Given the description of an element on the screen output the (x, y) to click on. 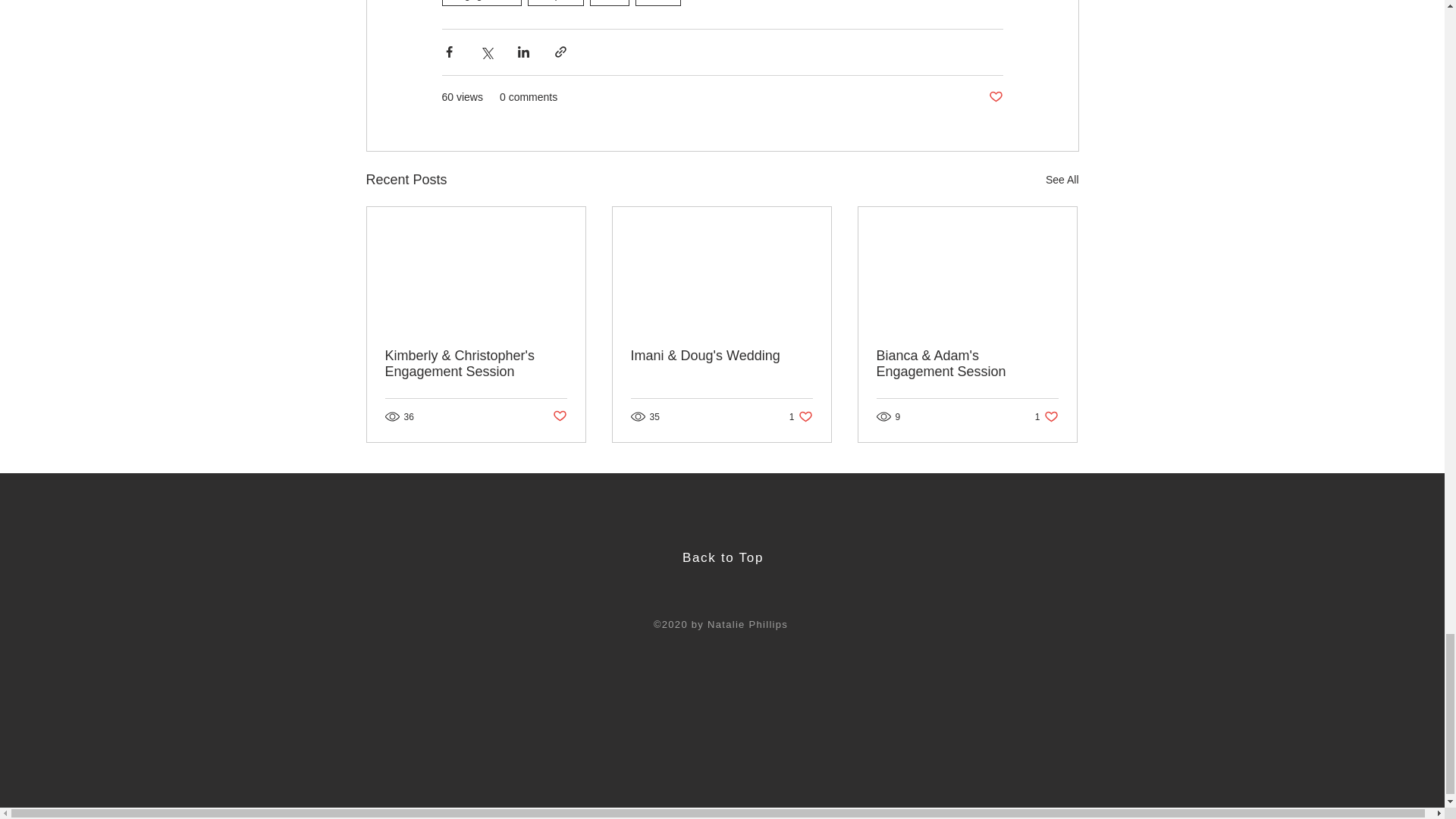
travel (657, 2)
love (800, 416)
Post not marked as liked (608, 2)
Back to Top (558, 416)
See All (722, 557)
Engagement (1046, 416)
Post not marked as liked (1061, 179)
couples (481, 2)
